Given the description of an element on the screen output the (x, y) to click on. 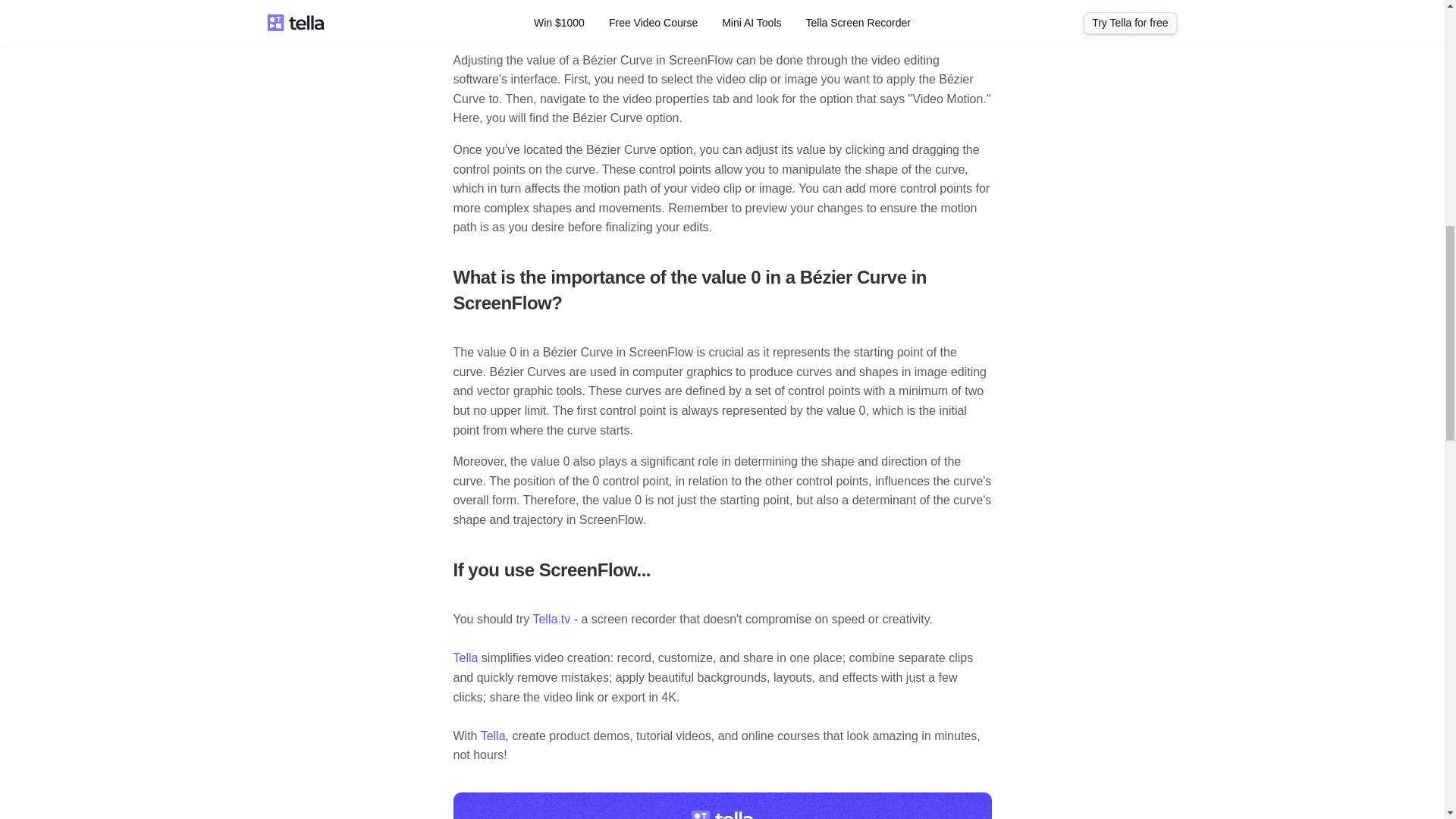
Tella (492, 735)
Tella screen recorder (721, 805)
Tella.tv (551, 618)
Tella (465, 657)
